Given the description of an element on the screen output the (x, y) to click on. 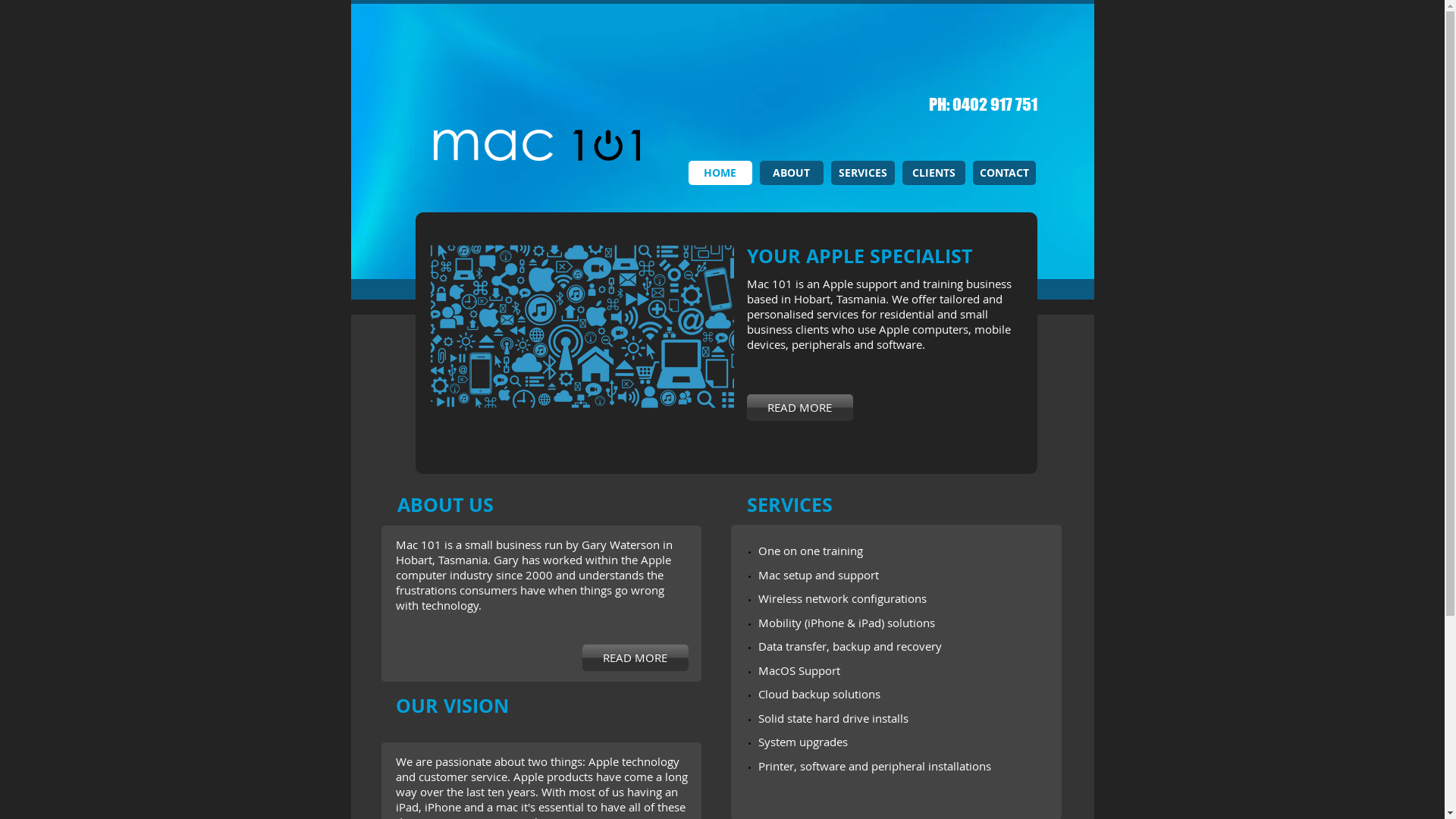
CONTACT Element type: text (1003, 172)
READ MORE Element type: text (635, 657)
HOME Element type: text (720, 172)
SERVICES Element type: text (862, 172)
ABOUT Element type: text (791, 172)
Mac 101 Element type: hover (536, 144)
READ MORE Element type: text (799, 407)
CLIENTS Element type: text (933, 172)
